Given the description of an element on the screen output the (x, y) to click on. 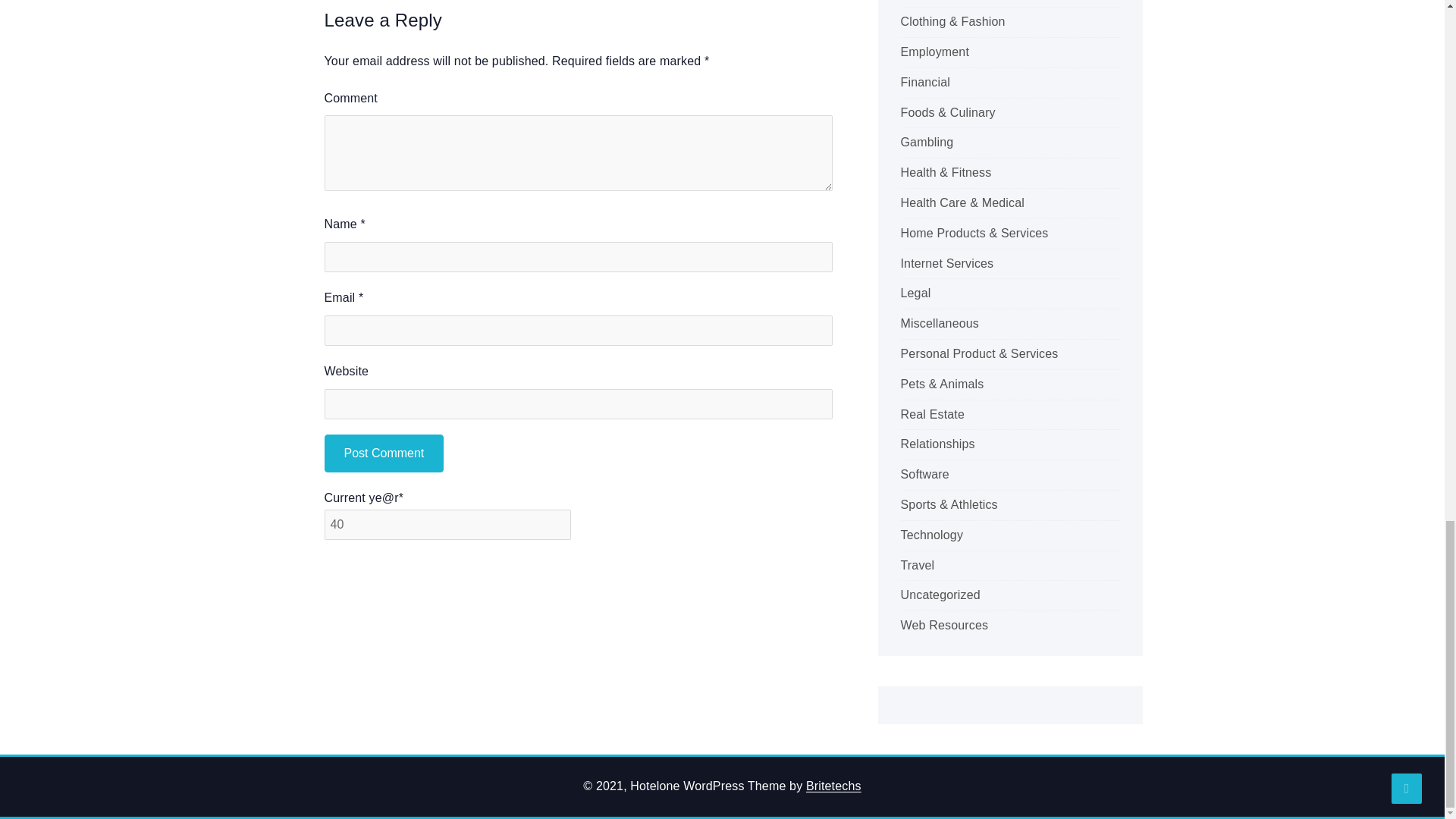
Post Comment (384, 453)
Post Comment (384, 453)
40 (447, 524)
